Given the description of an element on the screen output the (x, y) to click on. 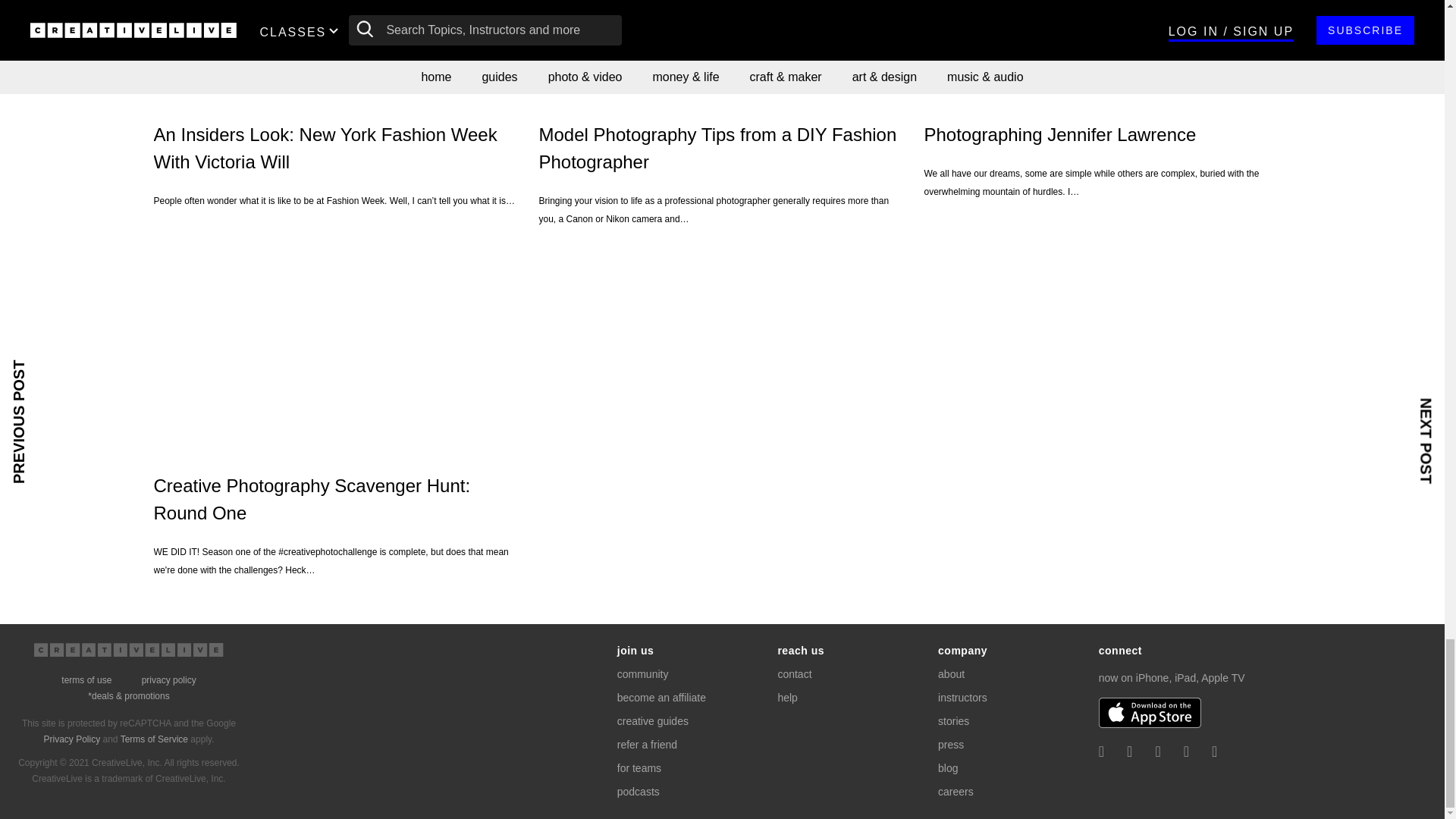
An Insiders Look: New York Fashion Week With Victoria Will (335, 50)
Photographing Jennifer Lawrence (1106, 50)
Model Photography Tips from a DIY Fashion Photographer (721, 50)
Creative Photography Scavenger Hunt: Round One (335, 348)
